Given the description of an element on the screen output the (x, y) to click on. 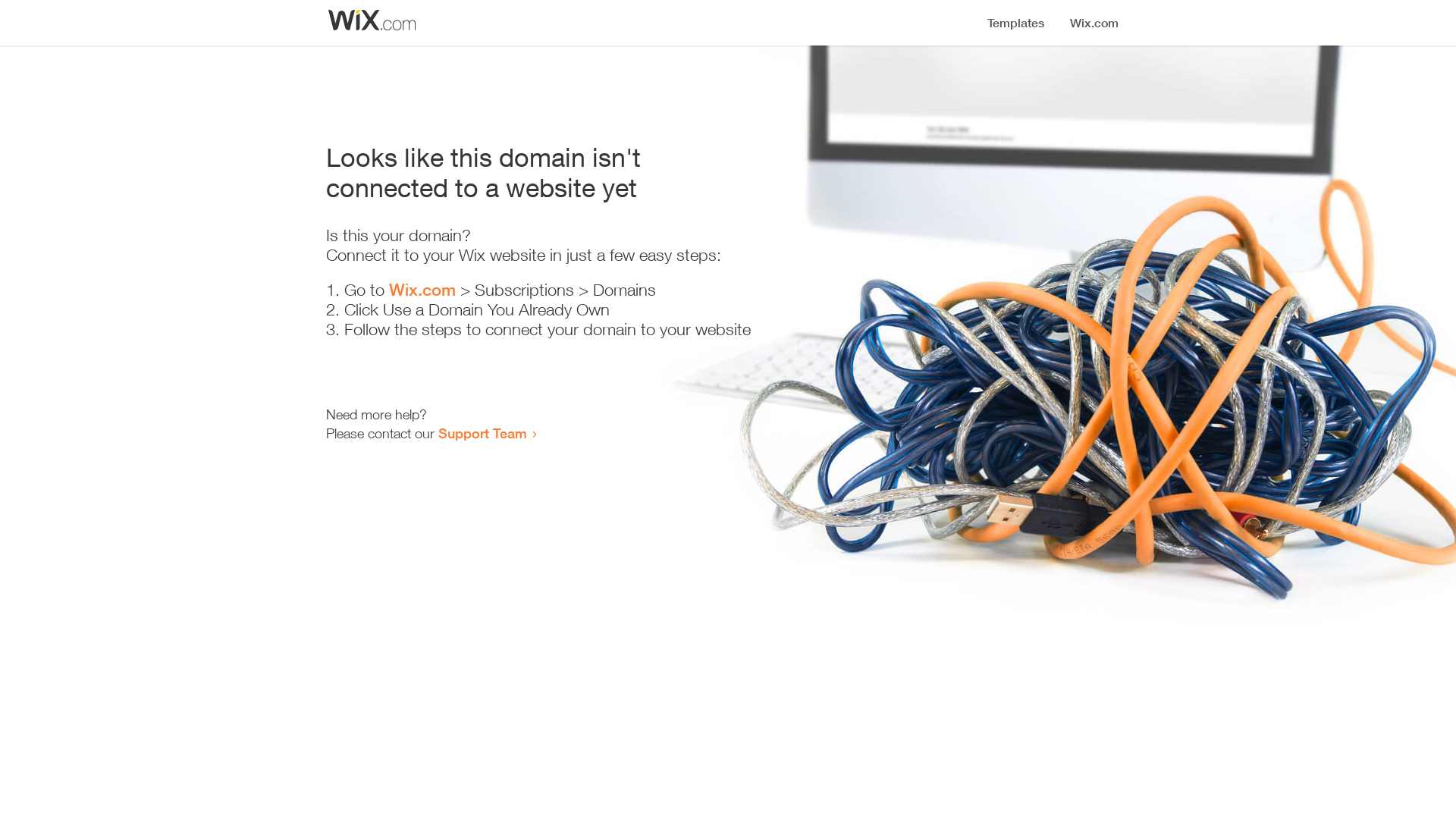
Support Team Element type: text (482, 432)
Wix.com Element type: text (422, 289)
